Given the description of an element on the screen output the (x, y) to click on. 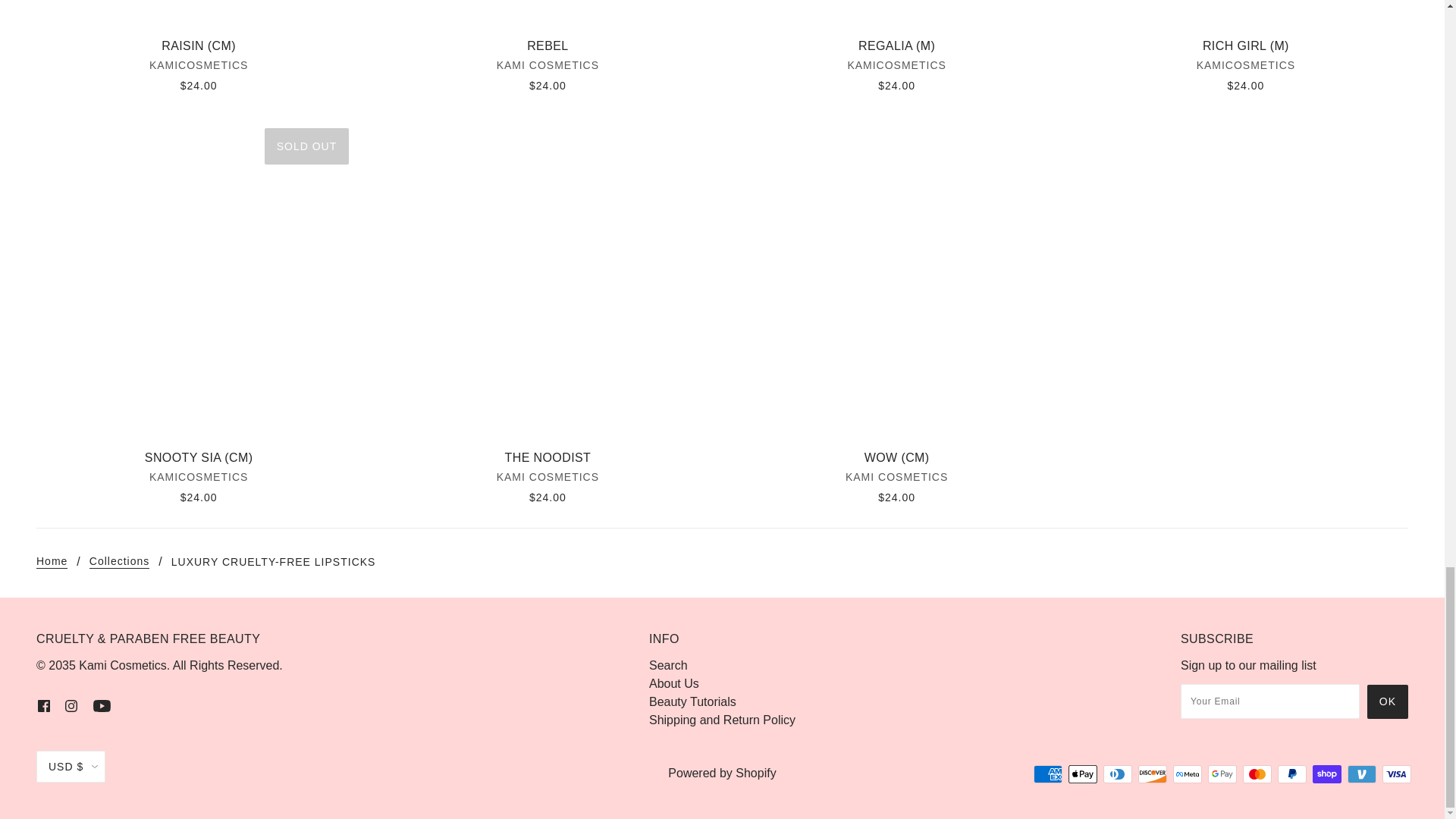
Meta Pay (1187, 773)
Beauty Tutorials (692, 701)
Venmo (1361, 773)
PayPal (1292, 773)
About Us (673, 683)
Diners Club (1117, 773)
Mastercard (1257, 773)
Search (668, 665)
Apple Pay (1082, 773)
Shop Pay (1326, 773)
American Express (1047, 773)
Google Pay (1222, 773)
Ok (1387, 701)
Shipping and Return Policy (721, 719)
Discover (1152, 773)
